Given the description of an element on the screen output the (x, y) to click on. 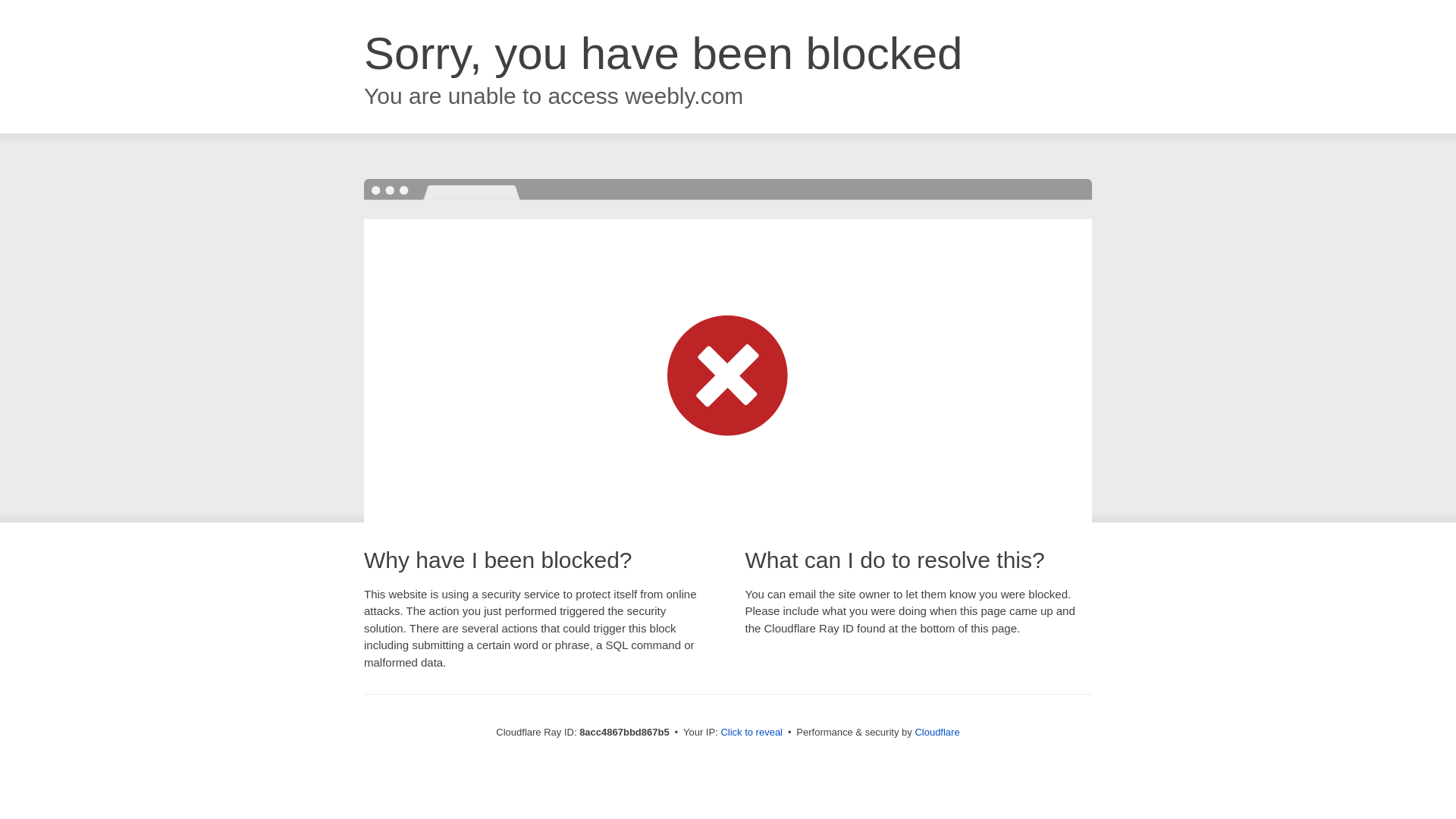
Click to reveal (751, 732)
Cloudflare (936, 731)
